Given the description of an element on the screen output the (x, y) to click on. 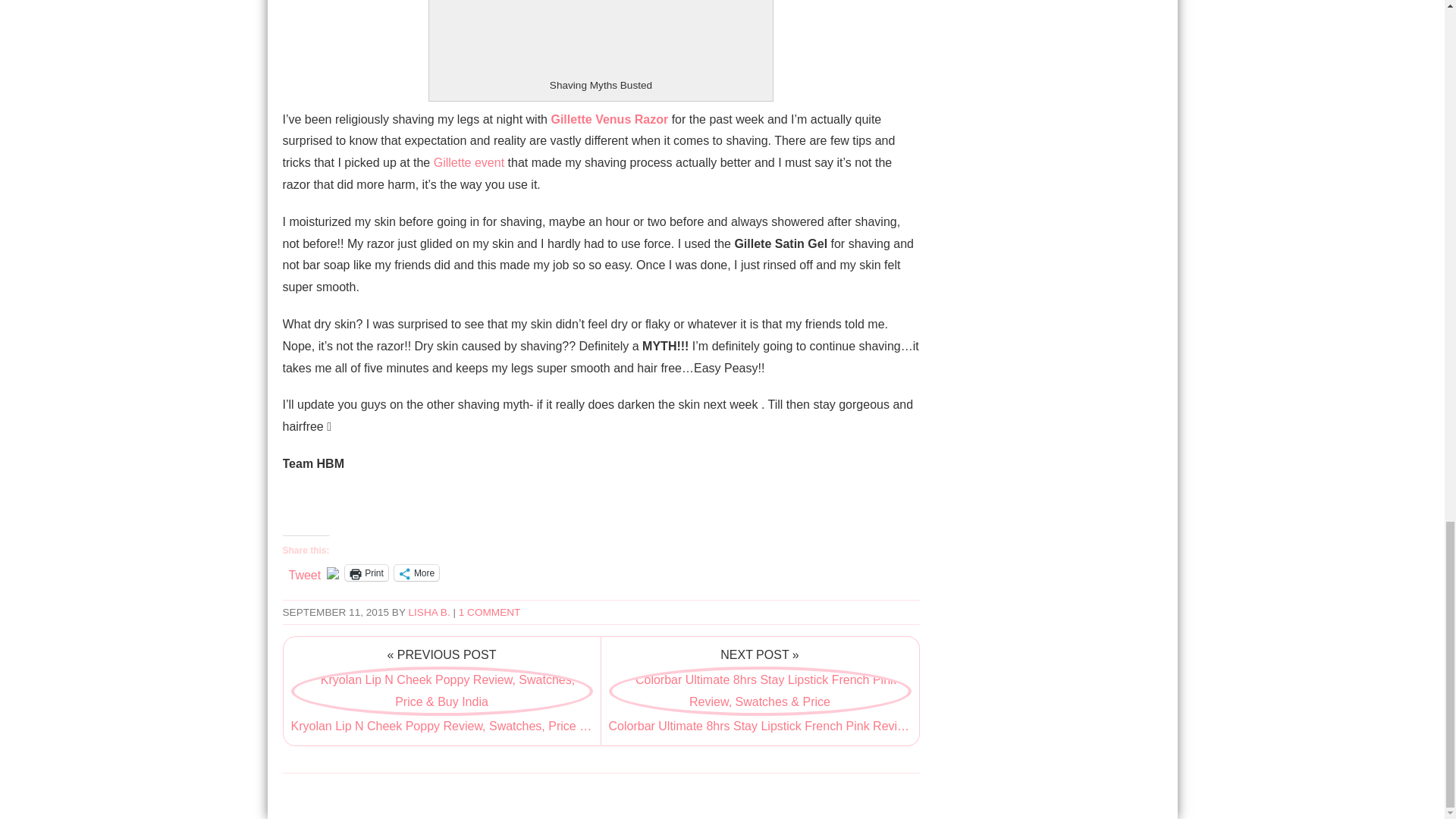
Click to print (366, 572)
